Given the description of an element on the screen output the (x, y) to click on. 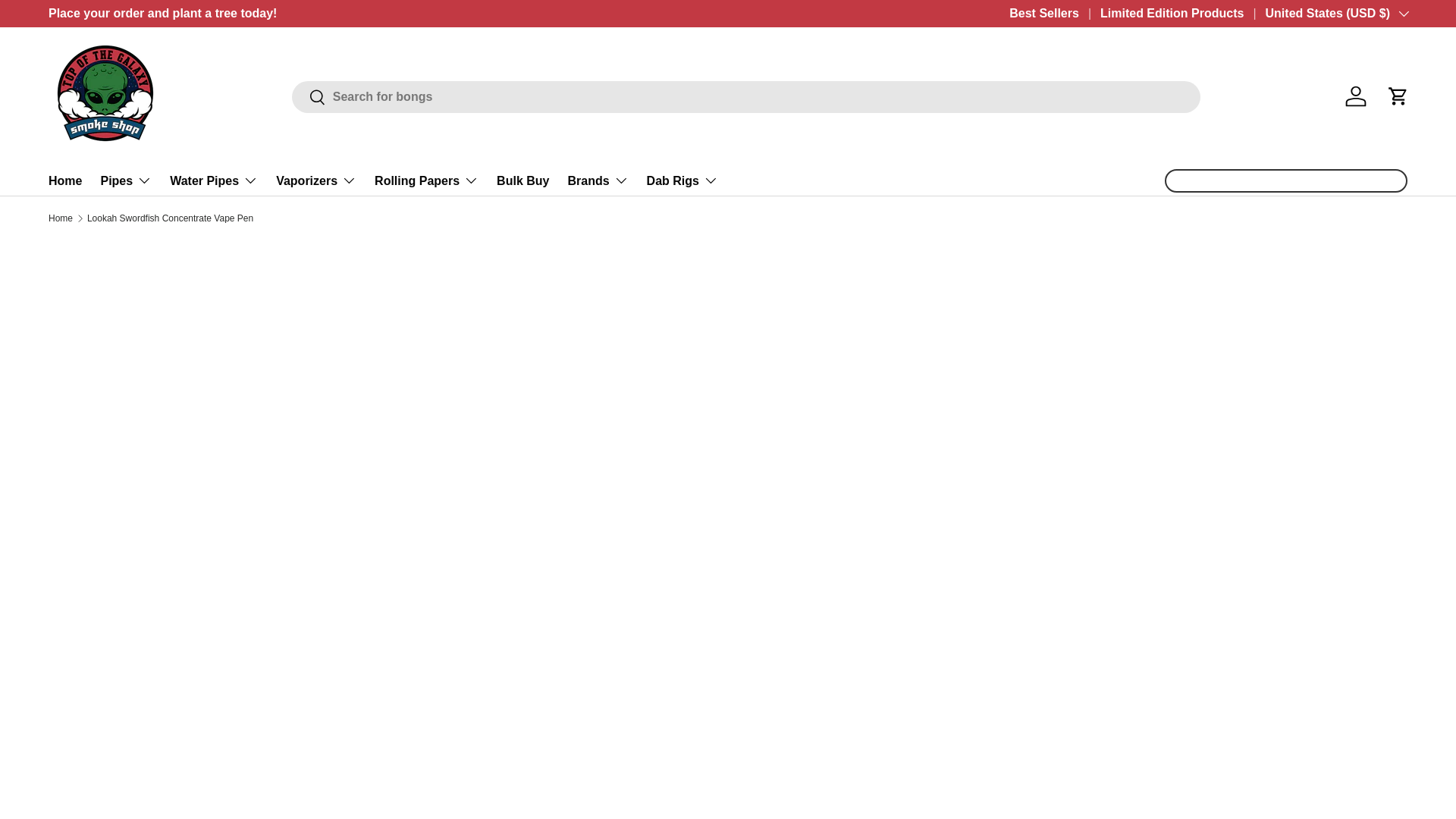
Cart (1398, 96)
Best Sellers (1054, 13)
Limited Edition Products (1182, 13)
Pipes (125, 180)
Home (64, 180)
Skip to content (69, 21)
Search (309, 98)
Vaporizers (316, 180)
Water Pipes (213, 180)
Rolling Papers (426, 180)
Log in (1356, 96)
